Given the description of an element on the screen output the (x, y) to click on. 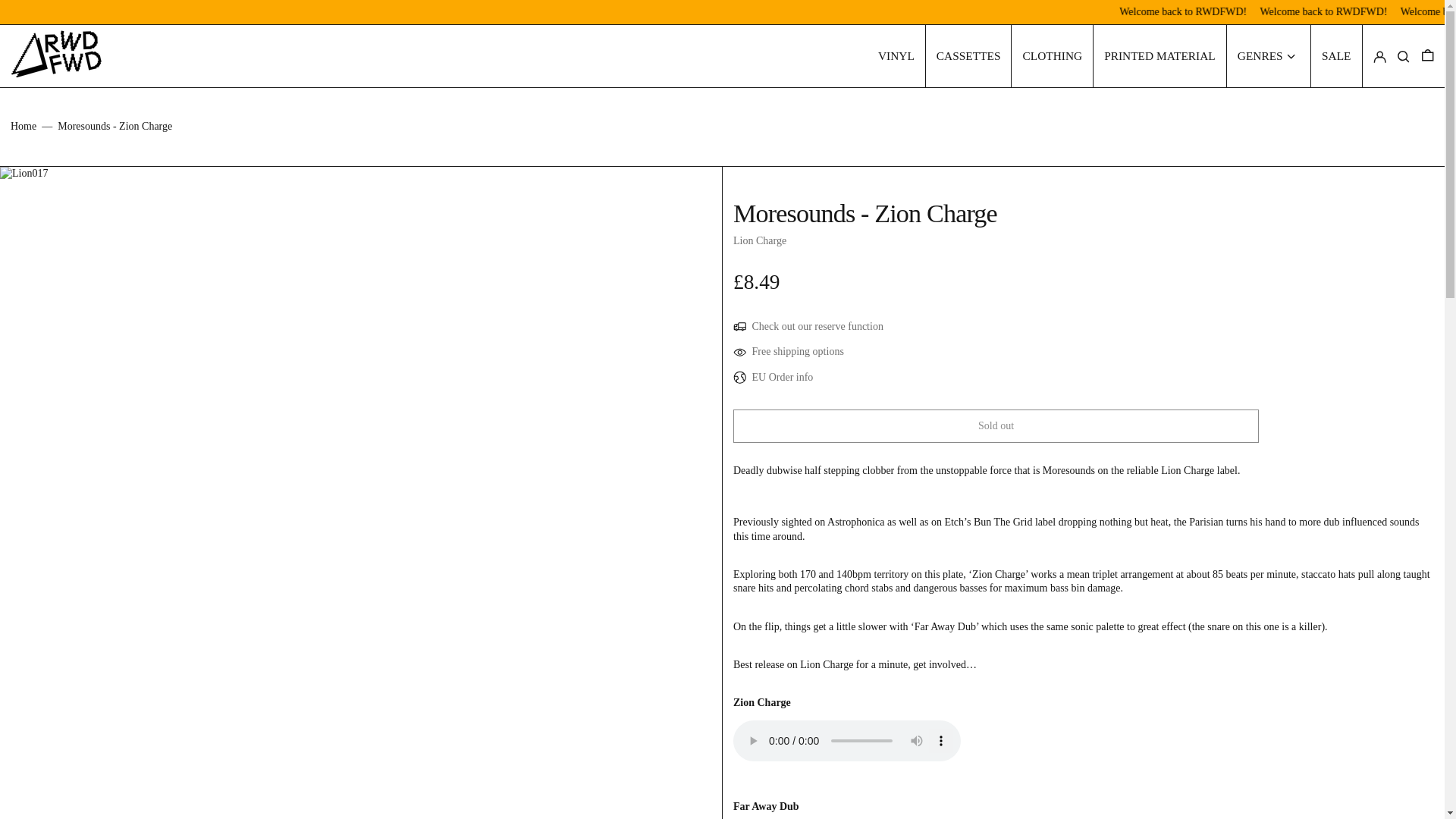
Lion Charge (759, 240)
